Given the description of an element on the screen output the (x, y) to click on. 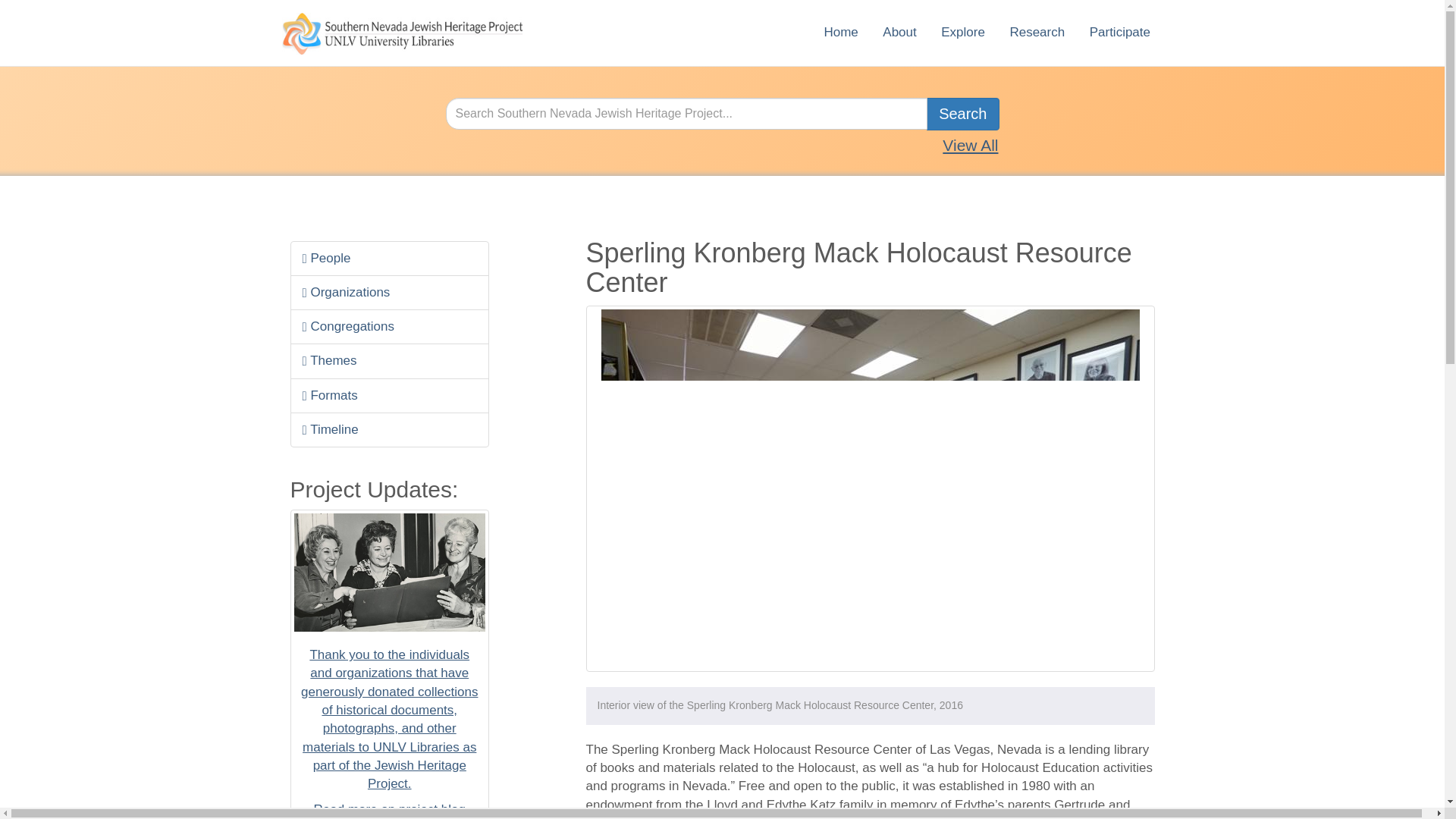
View All (969, 145)
Explore (962, 32)
Timeline (389, 429)
About (898, 32)
Participate (1119, 32)
Search (962, 113)
People (389, 258)
